Given the description of an element on the screen output the (x, y) to click on. 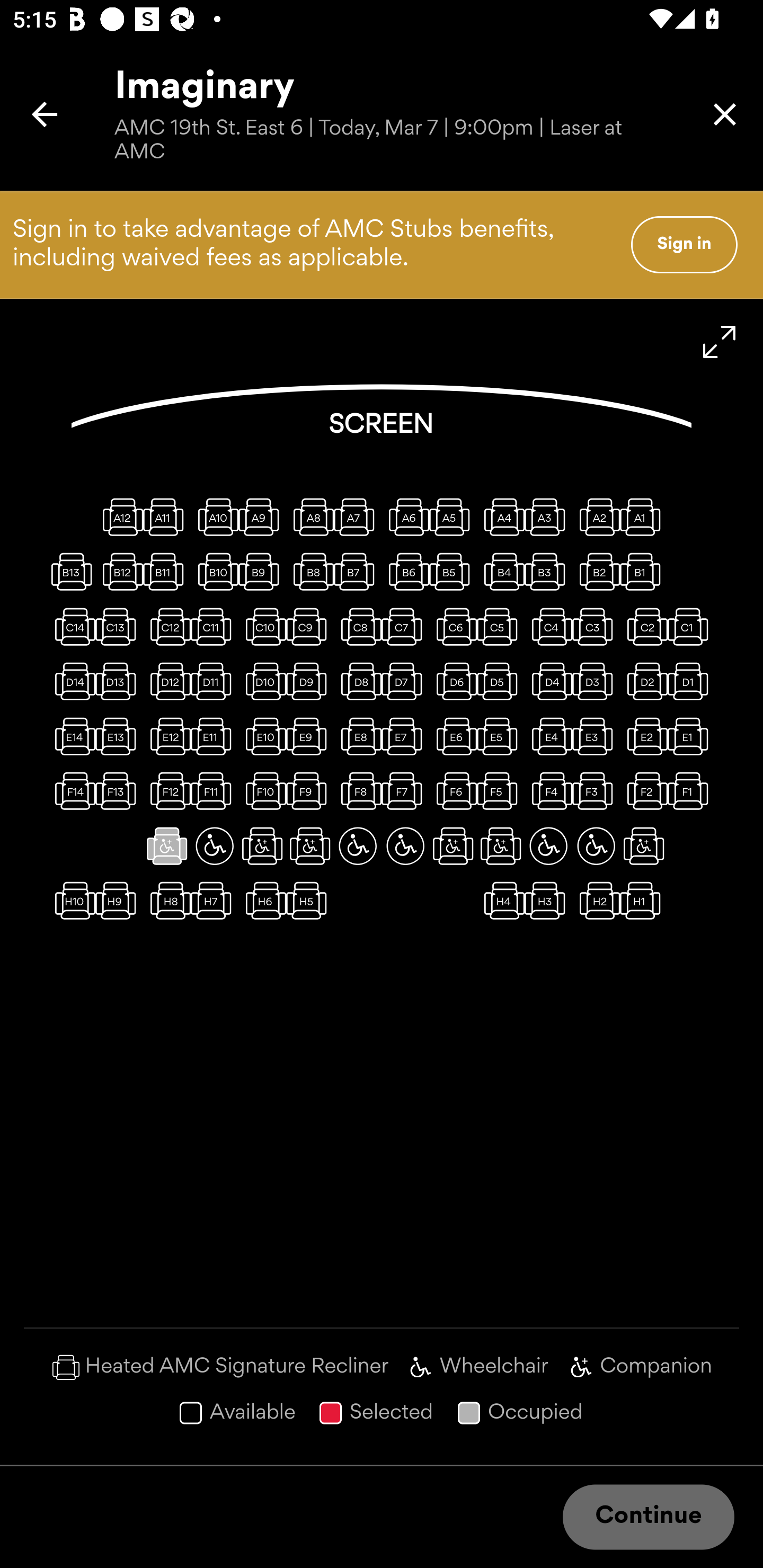
Back (44, 114)
Close (724, 114)
Sign in (684, 244)
Zoom (719, 342)
A12, Regular seat, available (119, 516)
A11, Regular seat, available (166, 516)
A10, Regular seat, available (214, 516)
A9, Regular seat, available (262, 516)
A8, Regular seat, available (310, 516)
A7, Regular seat, available (357, 516)
A6, Regular seat, available (404, 516)
A5, Regular seat, available (452, 516)
A4, Regular seat, available (500, 516)
A3, Regular seat, available (548, 516)
A2, Regular seat, available (595, 516)
A1, Regular seat, available (643, 516)
B13, Regular seat, available (71, 571)
B12, Regular seat, available (119, 571)
B11, Regular seat, available (166, 571)
B10, Regular seat, available (214, 571)
B9, Regular seat, available (262, 571)
B8, Regular seat, available (310, 571)
B7, Regular seat, available (357, 571)
B6, Regular seat, available (404, 571)
B5, Regular seat, available (452, 571)
B4, Regular seat, available (500, 571)
B3, Regular seat, available (548, 571)
B2, Regular seat, available (595, 571)
B1, Regular seat, available (643, 571)
C14, Regular seat, available (71, 625)
C13, Regular seat, available (119, 625)
C12, Regular seat, available (166, 625)
C11, Regular seat, available (214, 625)
C10, Regular seat, available (262, 625)
C9, Regular seat, available (310, 625)
C8, Regular seat, available (357, 625)
C7, Regular seat, available (404, 625)
C6, Regular seat, available (452, 625)
C5, Regular seat, available (500, 625)
C4, Regular seat, available (548, 625)
C3, Regular seat, available (595, 625)
C2, Regular seat, available (643, 625)
C1, Regular seat, available (691, 625)
D14, Regular seat, available (71, 680)
D13, Regular seat, available (119, 680)
D12, Regular seat, available (166, 680)
D11, Regular seat, available (214, 680)
D10, Regular seat, available (262, 680)
D9, Regular seat, available (310, 680)
D8, Regular seat, available (357, 680)
D7, Regular seat, available (404, 680)
D6, Regular seat, available (452, 680)
D5, Regular seat, available (500, 680)
D4, Regular seat, available (548, 680)
D3, Regular seat, available (595, 680)
D2, Regular seat, available (643, 680)
D1, Regular seat, available (691, 680)
E14, Regular seat, available (71, 735)
E13, Regular seat, available (119, 735)
E12, Regular seat, available (166, 735)
E11, Regular seat, available (214, 735)
E10, Regular seat, available (262, 735)
E9, Regular seat, available (310, 735)
E8, Regular seat, available (357, 735)
E7, Regular seat, available (404, 735)
E6, Regular seat, available (452, 735)
E5, Regular seat, available (500, 735)
E4, Regular seat, available (548, 735)
E3, Regular seat, available (595, 735)
E2, Regular seat, available (643, 735)
E1, Regular seat, available (691, 735)
F14, Regular seat, available (71, 790)
F13, Regular seat, available (119, 790)
F12, Regular seat, available (166, 790)
F11, Regular seat, available (214, 790)
F10, Regular seat, available (262, 790)
F9, Regular seat, available (310, 790)
F8, Regular seat, available (357, 790)
F7, Regular seat, available (404, 790)
F6, Regular seat, available (452, 790)
F5, Regular seat, available (500, 790)
F4, Regular seat, available (548, 790)
F3, Regular seat, available (595, 790)
F2, Regular seat, available (643, 790)
F1, Regular seat, available (691, 790)
G10, Wheelchair space, available (214, 845)
G9, Wheelchair companion seat, available (262, 845)
G8, Wheelchair companion seat, available (310, 845)
G7, Wheelchair space, available (357, 845)
G6, Wheelchair space, available (404, 845)
G5, Wheelchair companion seat, available (452, 845)
G4, Wheelchair companion seat, available (500, 845)
G3, Wheelchair space, available (548, 845)
G2, Wheelchair space, available (595, 845)
G1, Wheelchair companion seat, available (643, 845)
H10, Regular seat, available (71, 900)
H9, Regular seat, available (119, 900)
H8, Regular seat, available (166, 900)
H7, Regular seat, available (214, 900)
H6, Regular seat, available (262, 900)
H5, Regular seat, available (310, 900)
H4, Regular seat, available (500, 900)
H3, Regular seat, available (548, 900)
H2, Regular seat, available (595, 900)
H1, Regular seat, available (643, 900)
